Given the description of an element on the screen output the (x, y) to click on. 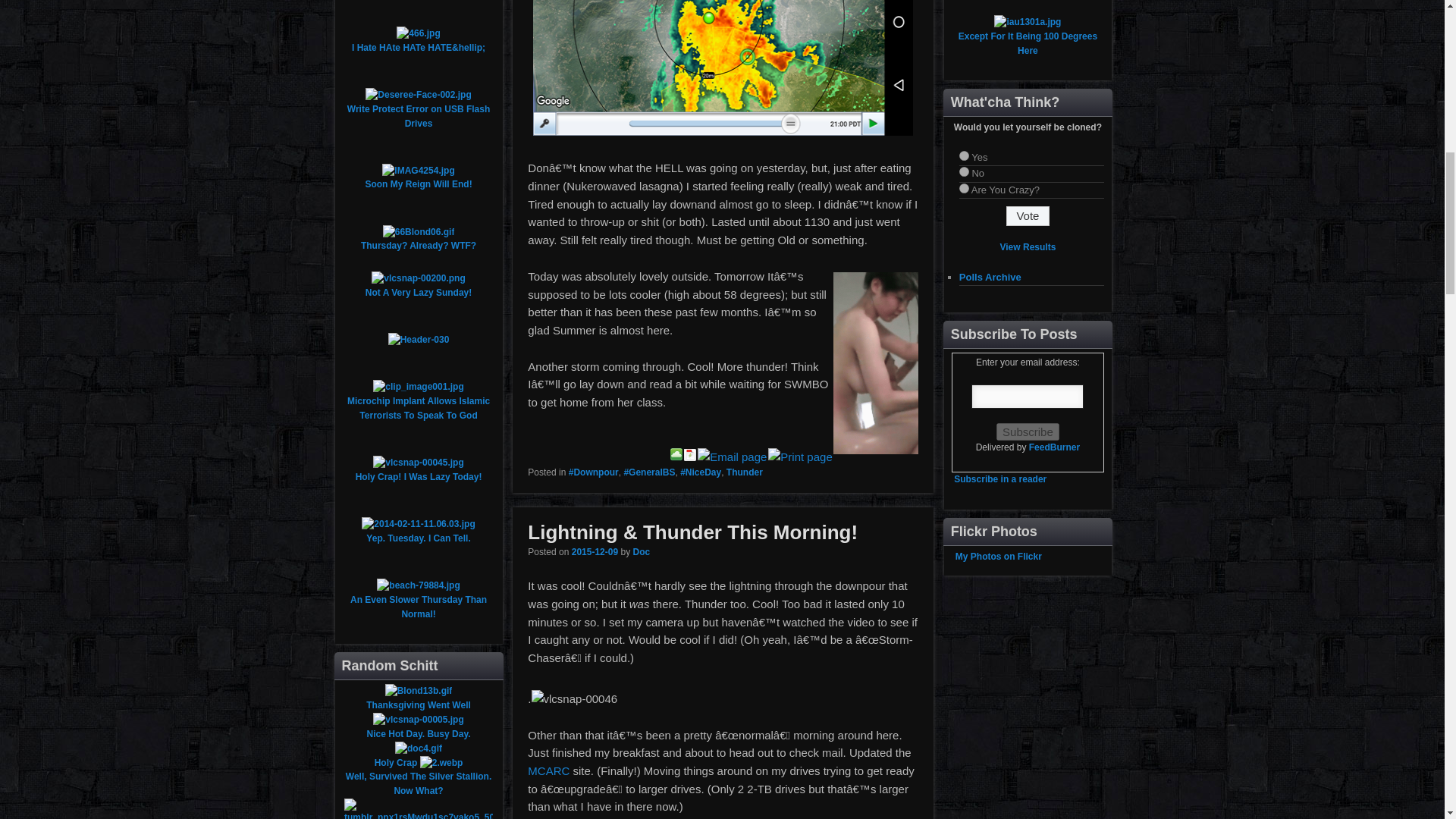
2034 (594, 552)
10 (964, 188)
2015-12-09 (594, 552)
Subscribe (1027, 431)
Thunder (744, 471)
8 (964, 155)
Email page (732, 456)
2017-05-05 04.03.45 (723, 67)
Doc (640, 552)
PDF page (689, 456)
